Given the description of an element on the screen output the (x, y) to click on. 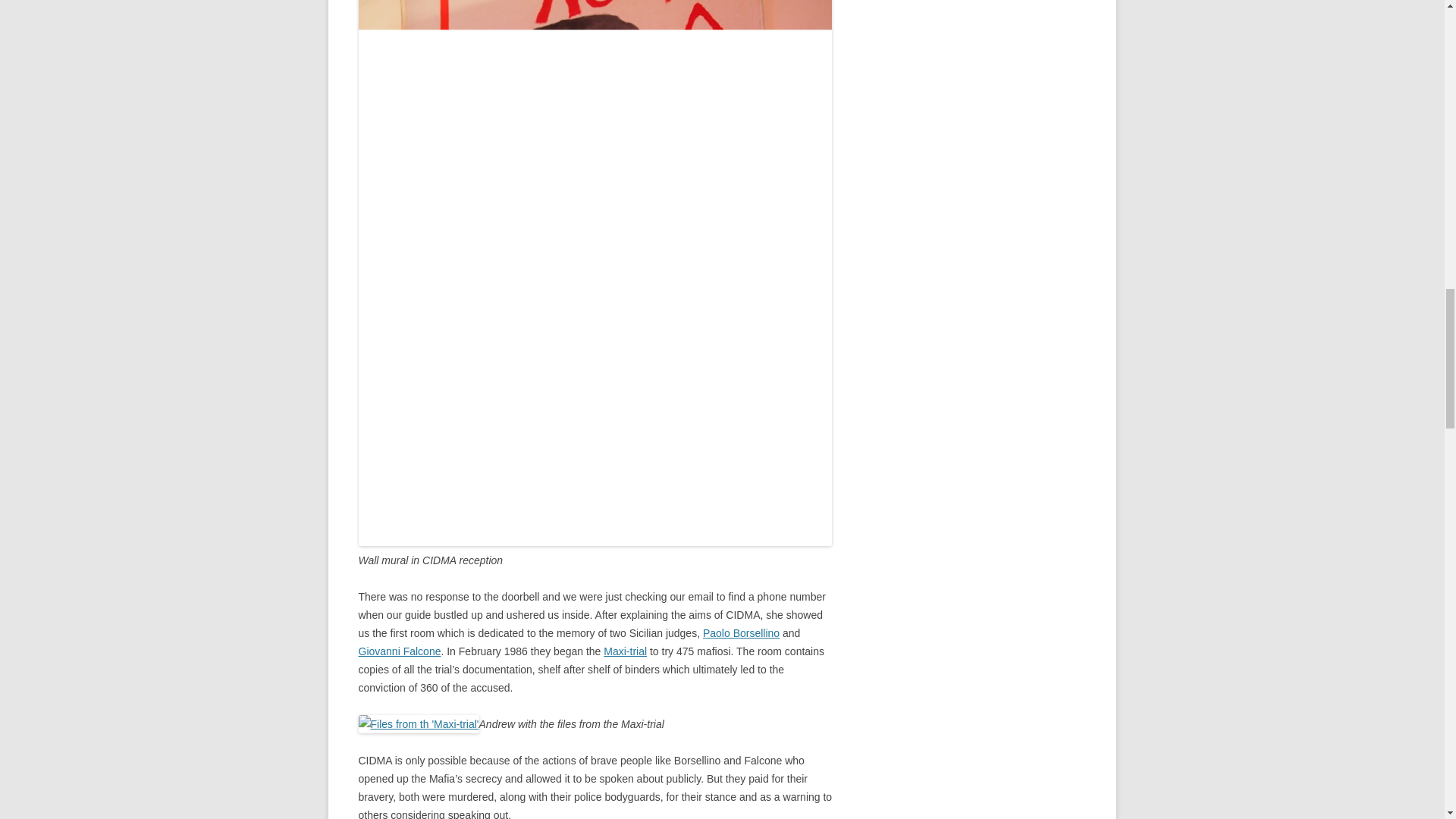
Giovanni Falcone Wikipedia (399, 651)
Maxi-trial (625, 651)
Giovanni Falcone (399, 651)
Paolo Borsellino (740, 633)
Paolo Borsellino Wikipedia (740, 633)
